Given the description of an element on the screen output the (x, y) to click on. 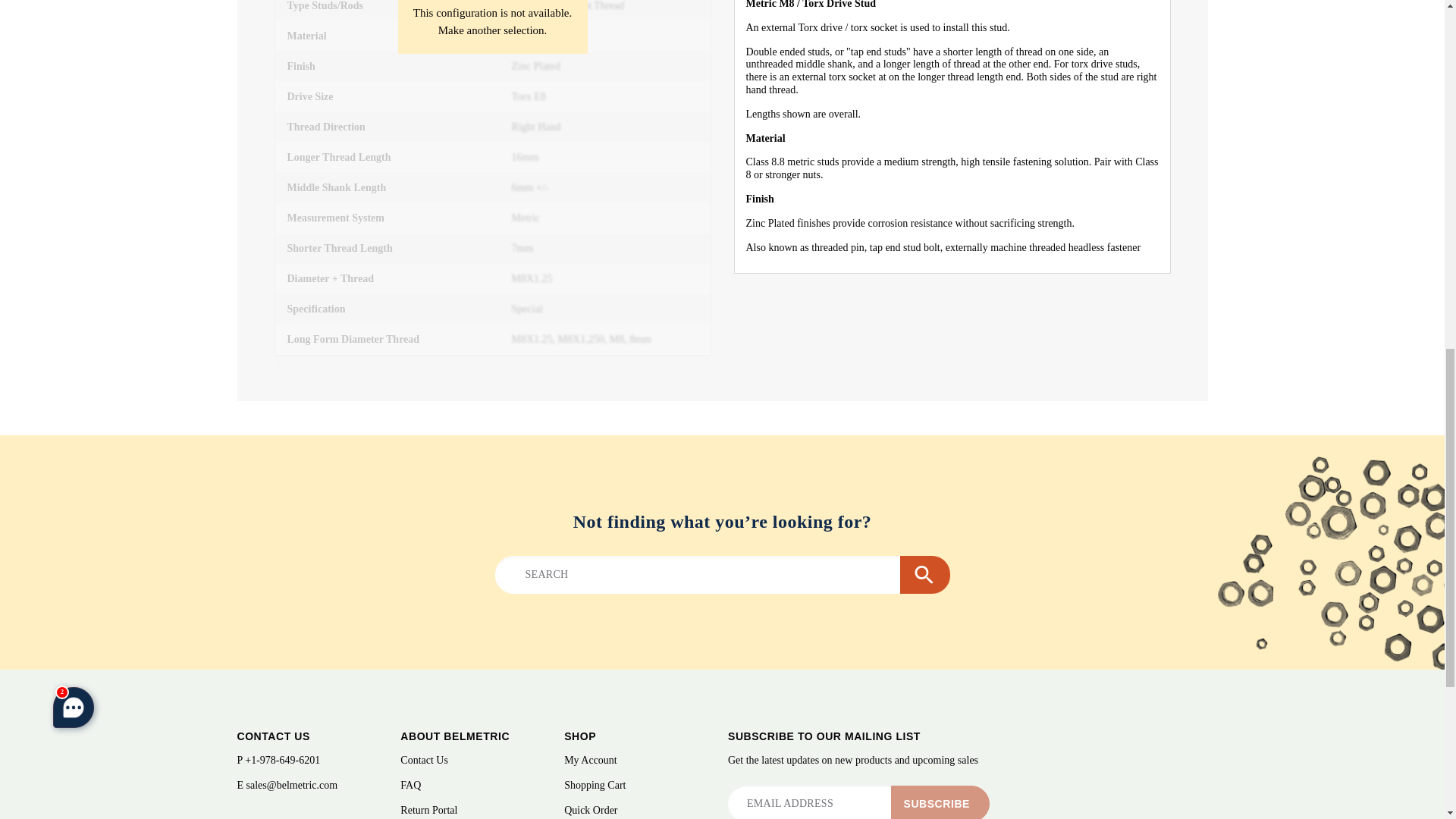
Subscribe (940, 802)
